Given the description of an element on the screen output the (x, y) to click on. 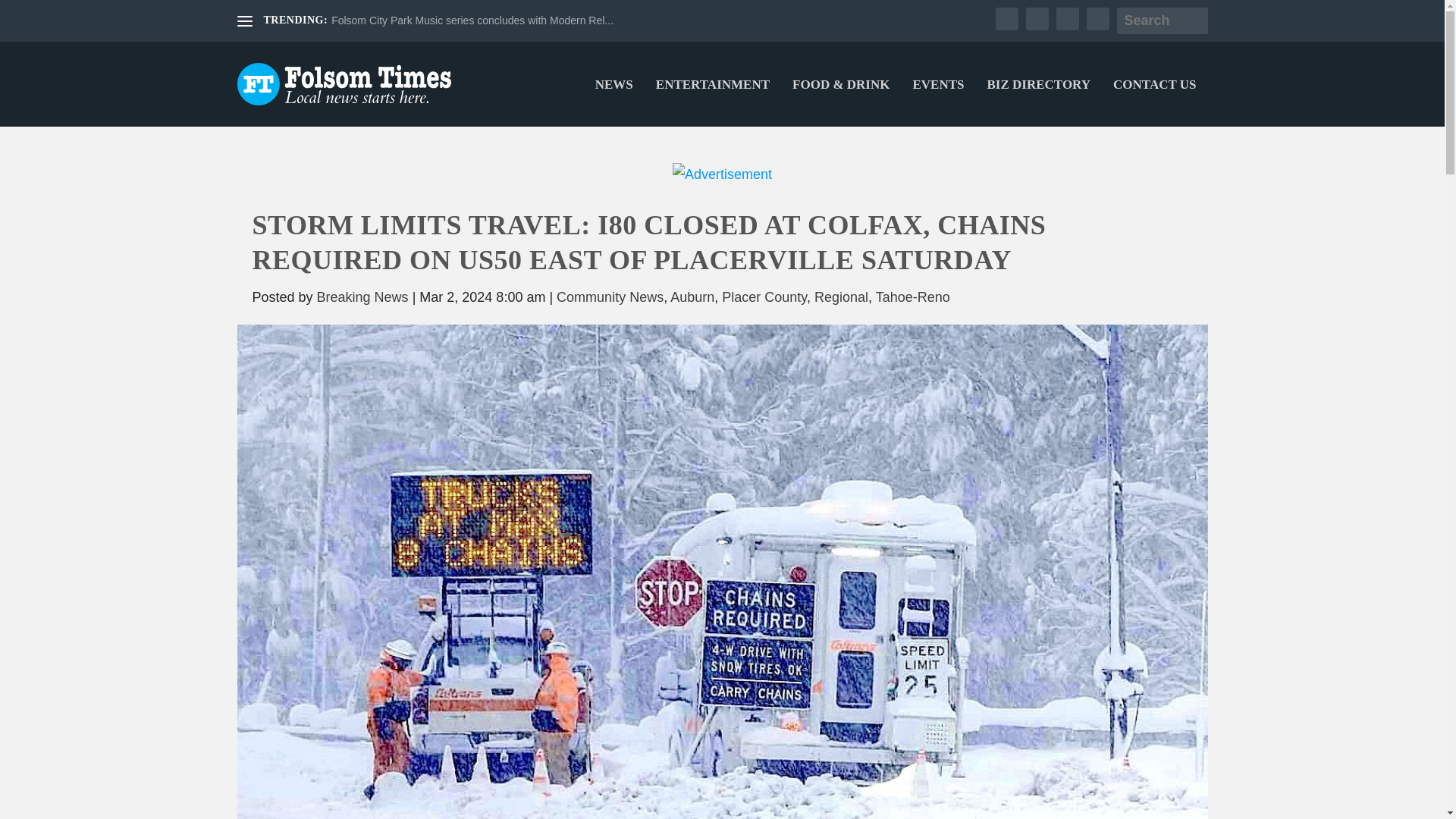
ENTERTAINMENT (713, 102)
EVENTS (937, 102)
Placer County (764, 296)
Regional (840, 296)
BIZ DIRECTORY (1038, 102)
Posts by Breaking News (363, 296)
Auburn (691, 296)
Folsom City Park Music series concludes with Modern Rel... (471, 20)
Search for: (1161, 20)
CONTACT US (1154, 102)
Community News (609, 296)
Breaking News (363, 296)
